Given the description of an element on the screen output the (x, y) to click on. 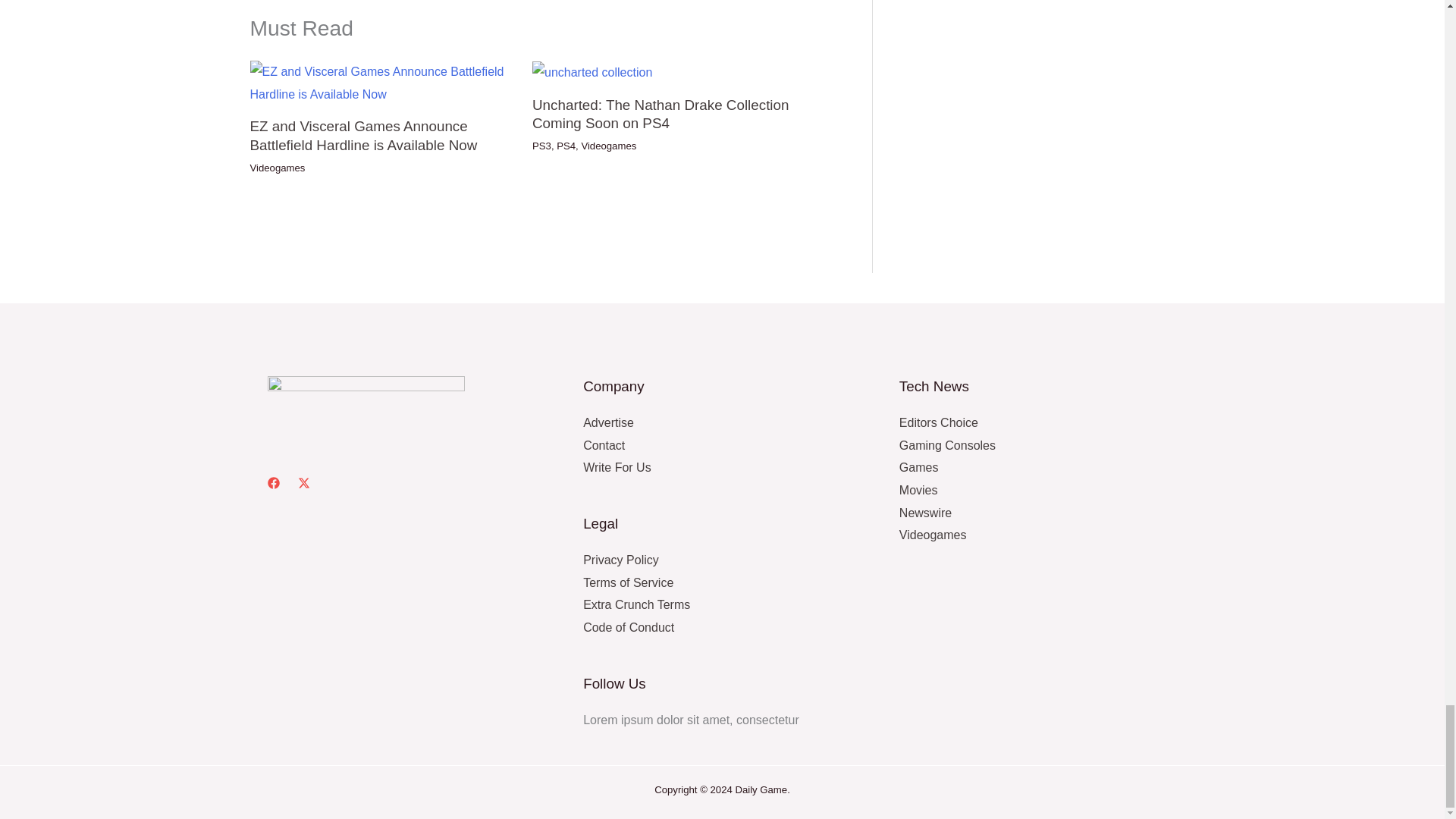
Videogames (277, 167)
Uncharted: The Nathan Drake Collection Coming Soon on PS4 (660, 114)
PS3 (541, 145)
